Given the description of an element on the screen output the (x, y) to click on. 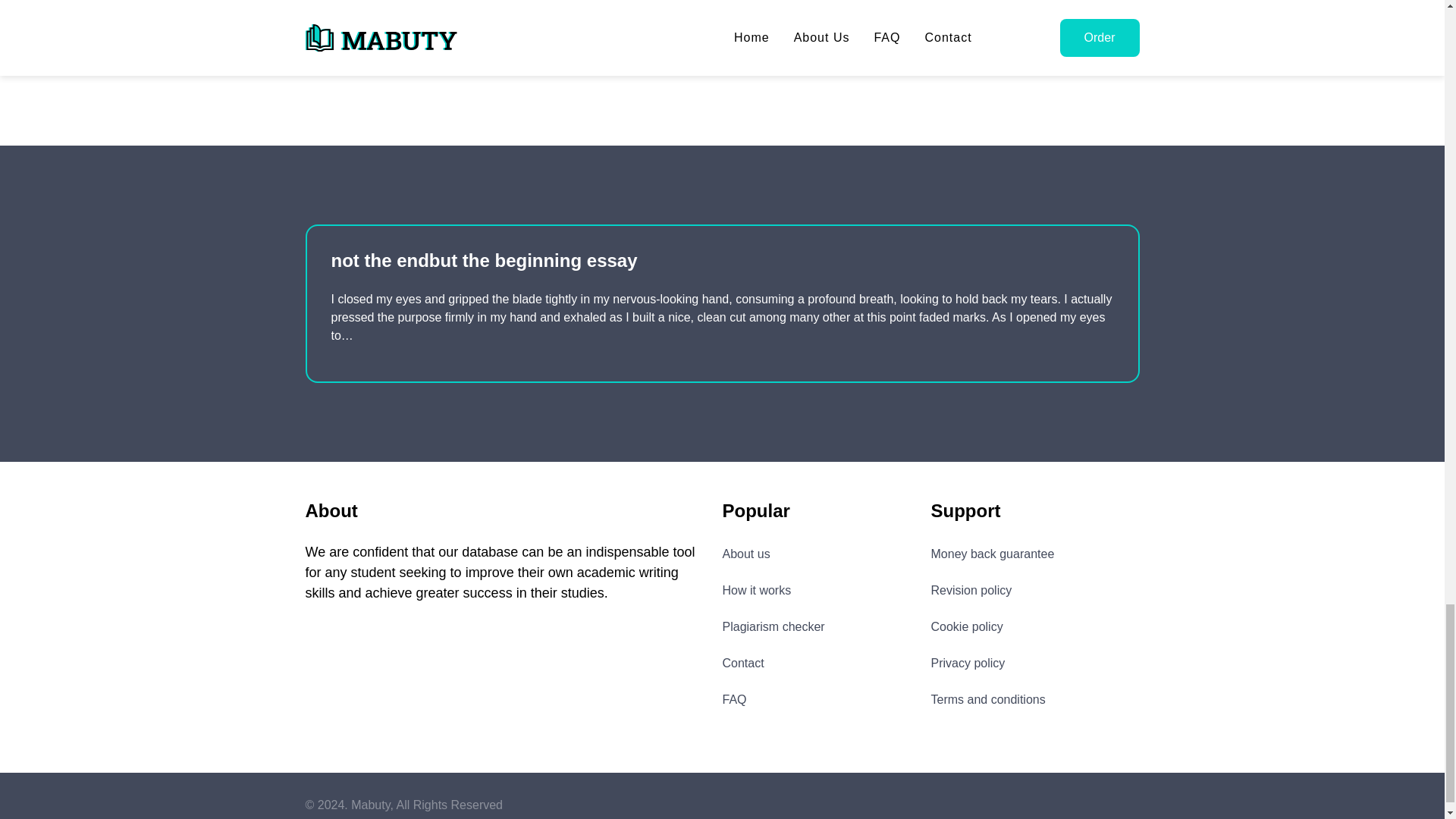
Privacy policy (968, 662)
Cookie policy (967, 626)
Revision policy (971, 589)
Terms and conditions (988, 699)
FAQ (733, 699)
engineering (344, 55)
DMCA (1093, 801)
essay (417, 55)
Money back guarantee (992, 553)
Contact (742, 662)
Plagiarism checker (773, 626)
About us (746, 553)
How it works (756, 589)
